Given the description of an element on the screen output the (x, y) to click on. 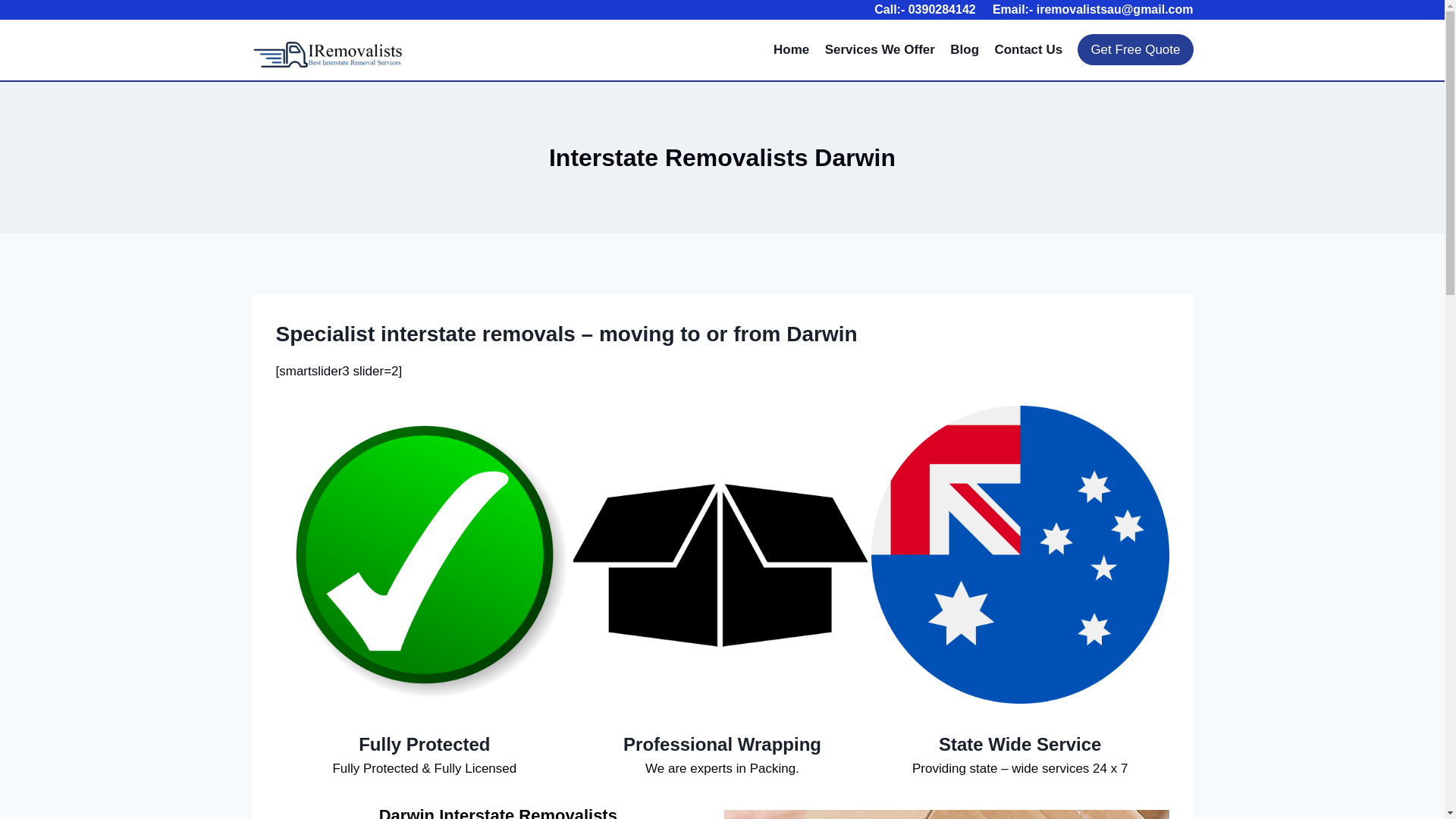
Interstate Removalists Darwin 2 Element type: hover (722, 554)
Home Element type: text (791, 49)
Interstate Removalists Darwin 3 Element type: hover (1020, 554)
Contact Us Element type: text (1028, 49)
0390284142 Element type: text (941, 9)
Services We Offer Element type: text (880, 49)
Professional Wrapping Element type: text (722, 744)
Blog Element type: text (964, 49)
Get Free Quote Element type: text (1134, 49)
iremovalistsau@gmail.com Element type: text (1114, 9)
Interstate Removalists Darwin 1 Element type: hover (425, 554)
State Wide Service Element type: text (1019, 744)
Fully Protected Element type: text (423, 744)
